Given the description of an element on the screen output the (x, y) to click on. 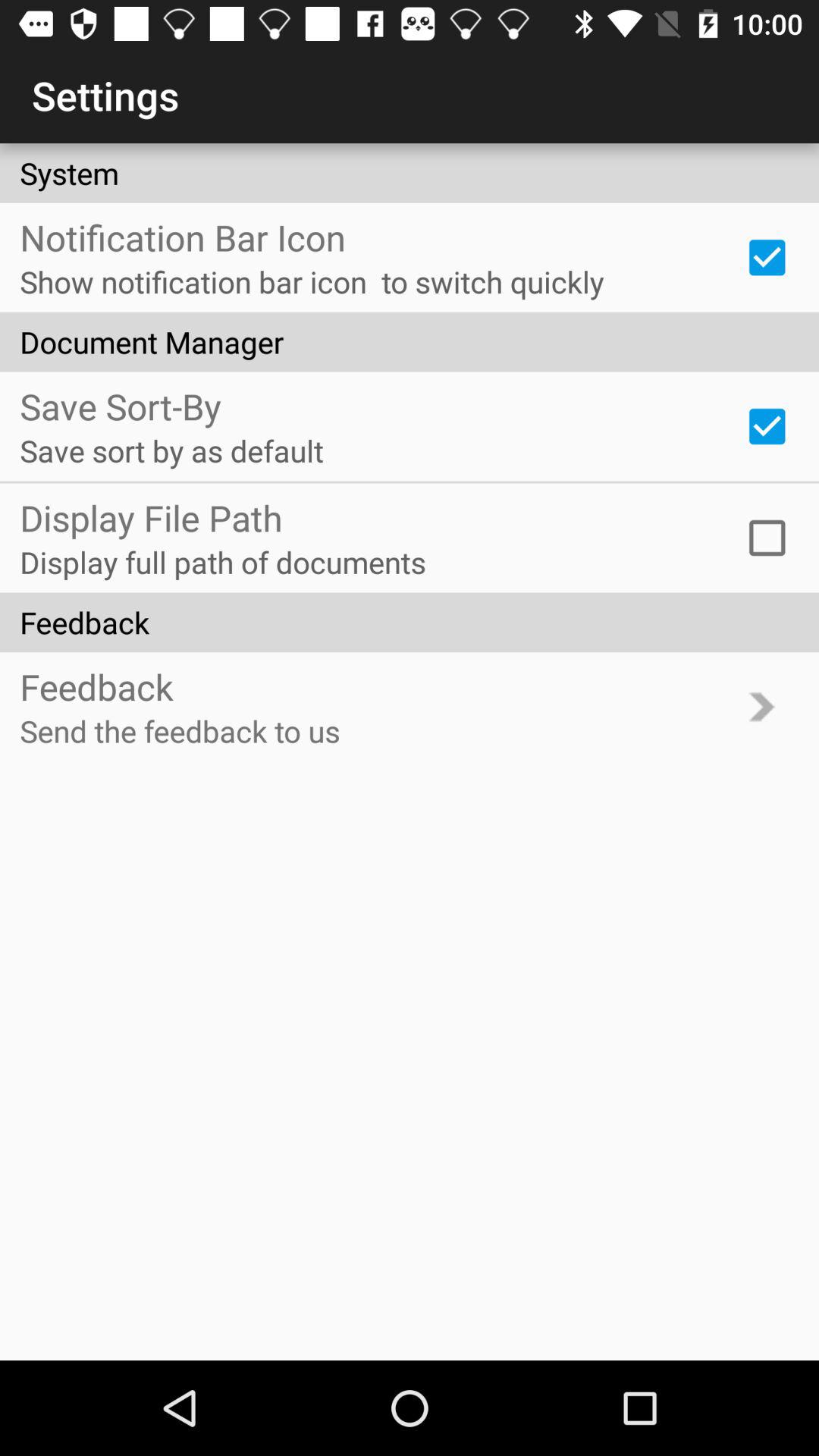
toggle on (767, 537)
